Given the description of an element on the screen output the (x, y) to click on. 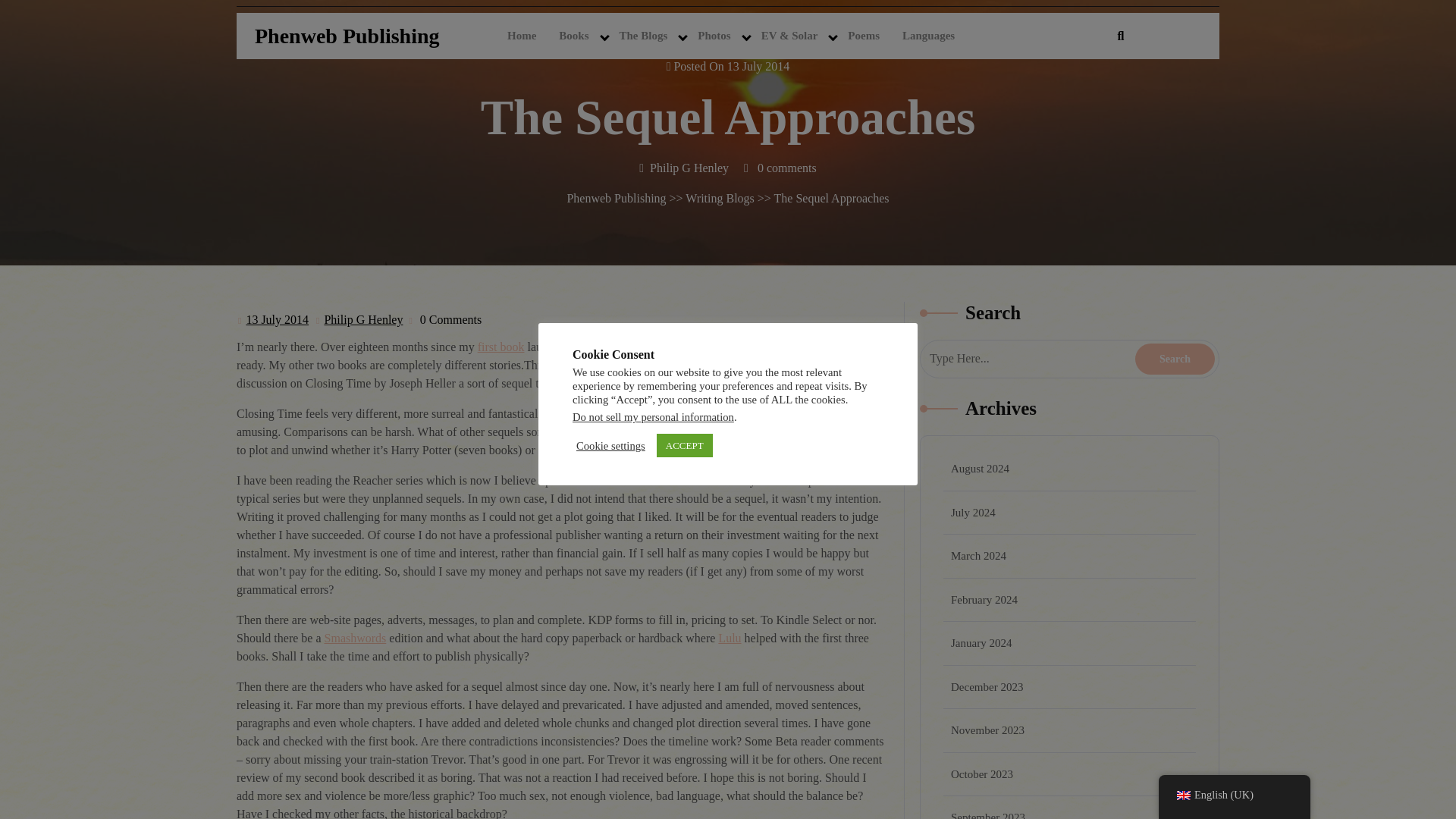
Search (1174, 358)
Search (1174, 358)
Home (521, 35)
Phenweb Publishing (346, 35)
The Blogs (643, 35)
Books (573, 35)
Photos (713, 35)
Phenweb Publishing (346, 35)
